Given the description of an element on the screen output the (x, y) to click on. 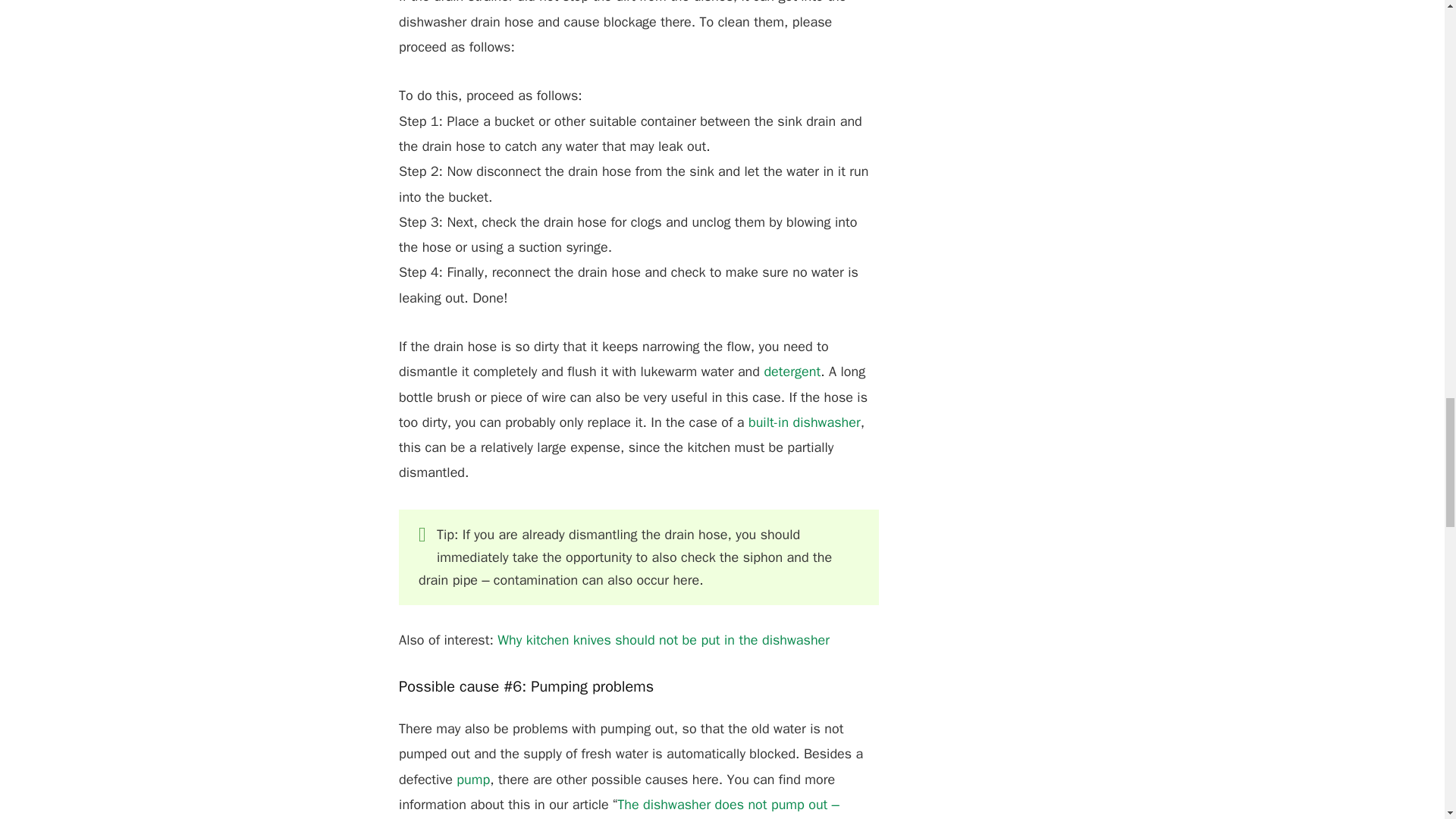
Replacing the dishwasher pump (473, 779)
Best built-in Dishwashers (804, 422)
Detergent (791, 371)
